Given the description of an element on the screen output the (x, y) to click on. 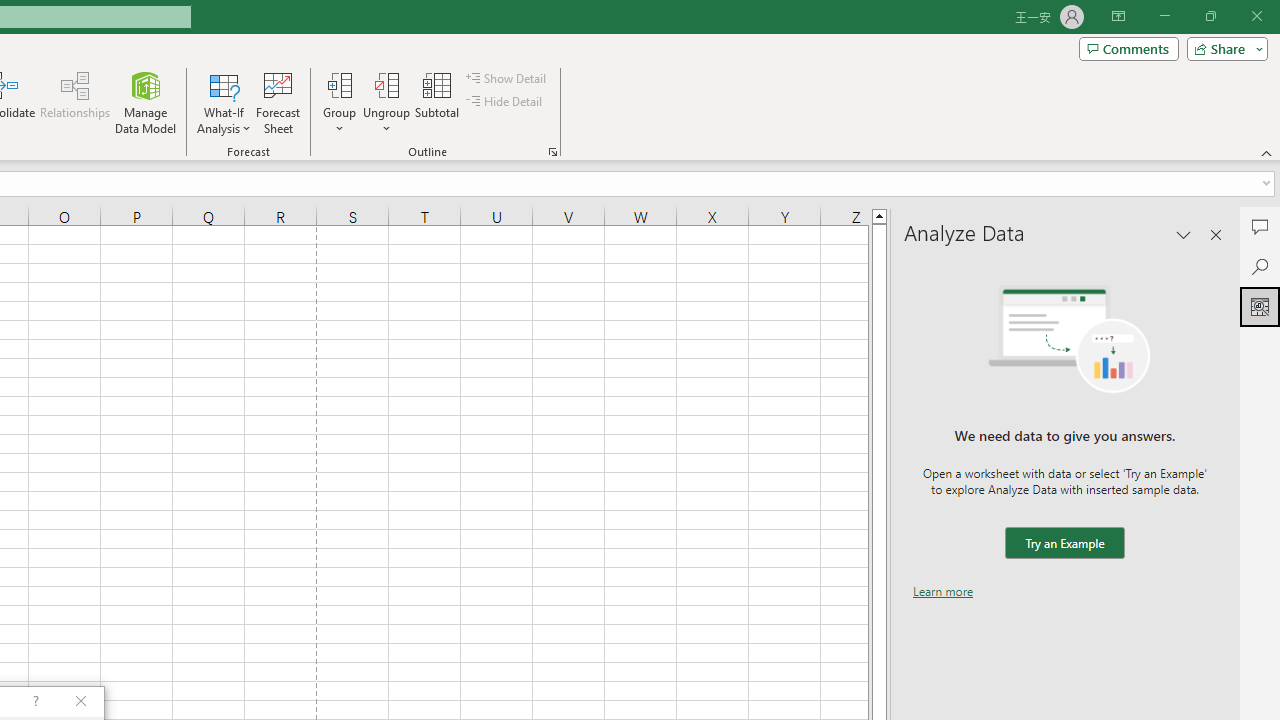
Group and Outline Settings (552, 151)
Subtotal (437, 102)
Forecast Sheet (278, 102)
Hide Detail (505, 101)
What-If Analysis (223, 102)
